Given the description of an element on the screen output the (x, y) to click on. 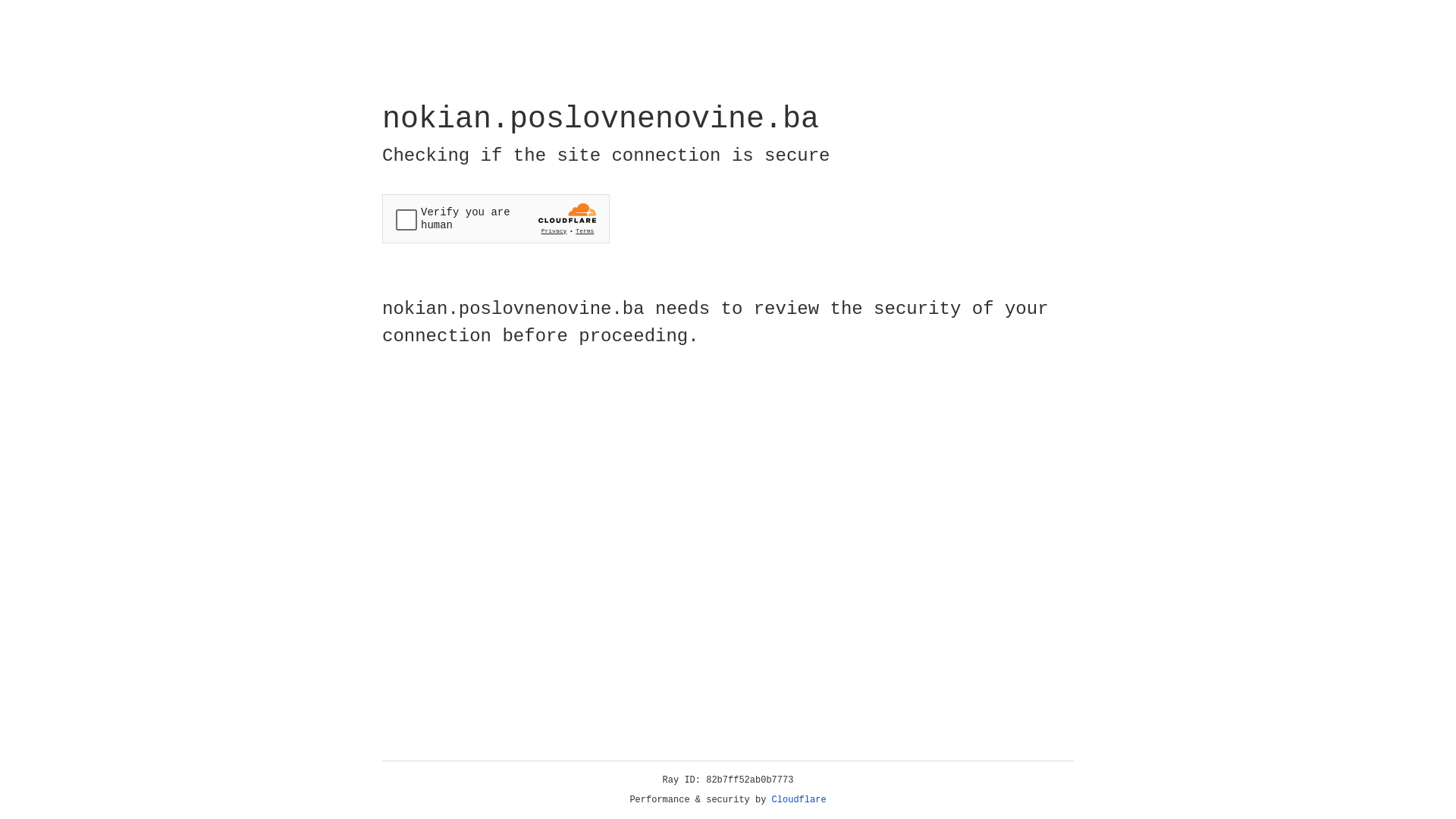
Widget containing a Cloudflare security challenge Element type: hover (495, 218)
Cloudflare Element type: text (798, 799)
